Given the description of an element on the screen output the (x, y) to click on. 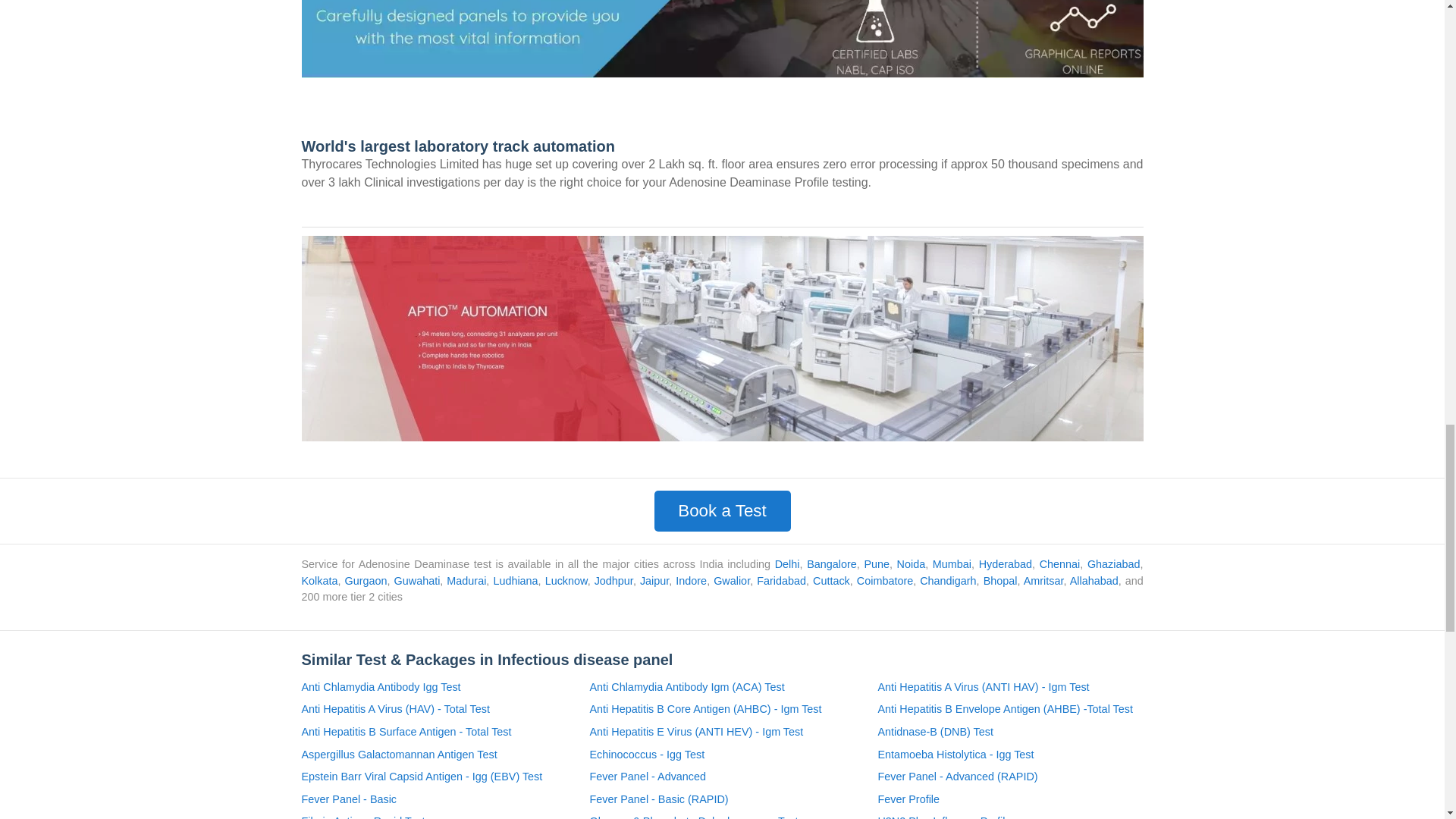
Adenosine Deaminase Test Price Kolkata (319, 580)
Pune (876, 563)
Jodhpur (613, 580)
Adenosine Deaminase Test Price Gwalior (731, 580)
Adenosine Deaminase Test Price Bangalore (831, 563)
Adenosine Deaminase Test Price Cuttack (831, 580)
Adenosine Deaminase Test Price Pune (876, 563)
Adenosine Deaminase Test Price Guwahati (417, 580)
Madurai (466, 580)
Book a Test (721, 510)
Adenosine Deaminase Test Price Lucknow (566, 580)
Ludhiana (515, 580)
Delhi (786, 563)
Anti Chlamydia Antibody Igg Test (381, 687)
Gurgaon (366, 580)
